Given the description of an element on the screen output the (x, y) to click on. 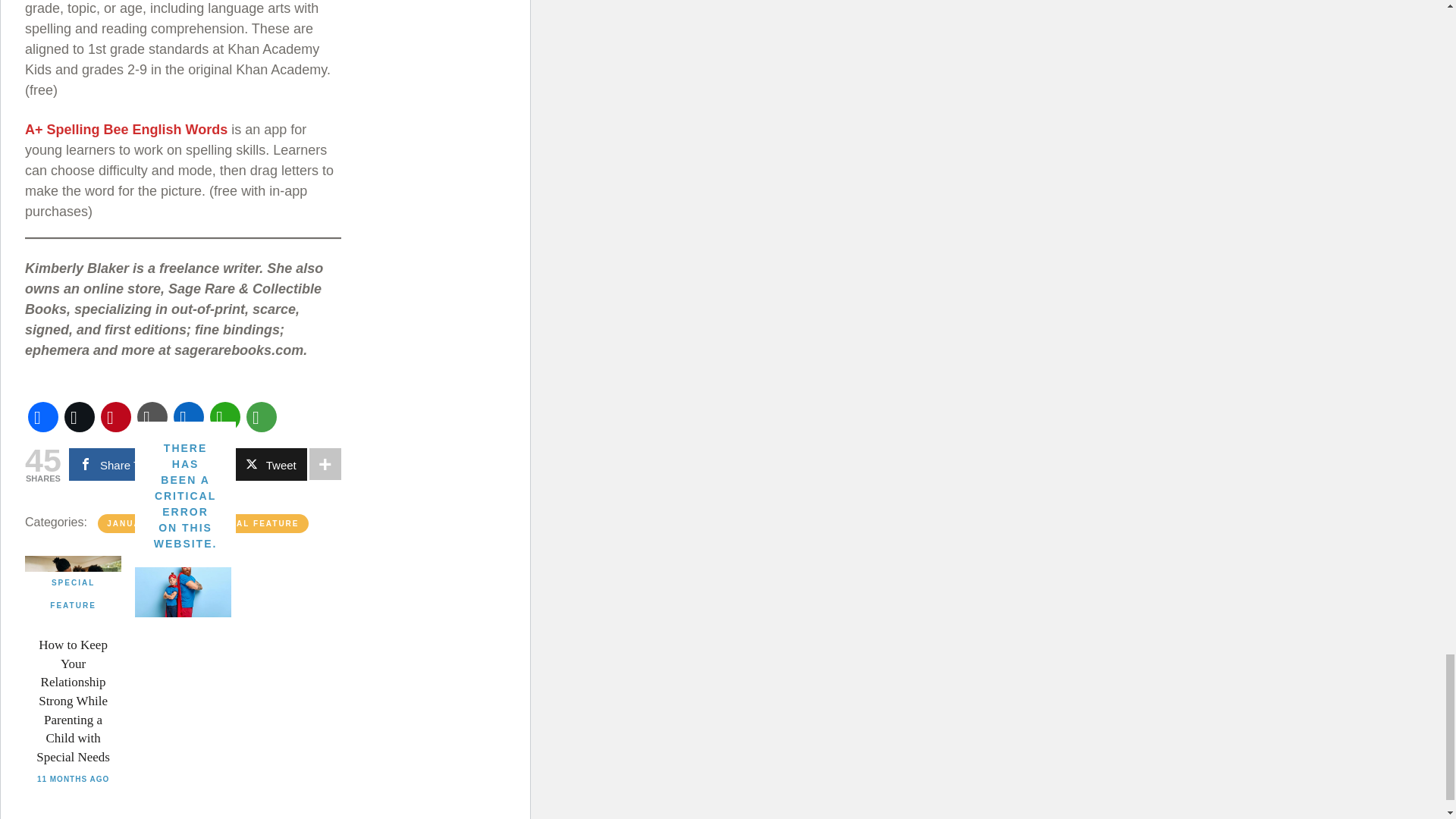
More Options (261, 416)
WhatsApp (224, 416)
Copy Link (151, 416)
LinkedIn (188, 416)
Pinterest (115, 416)
Facebook (42, 416)
